Given the description of an element on the screen output the (x, y) to click on. 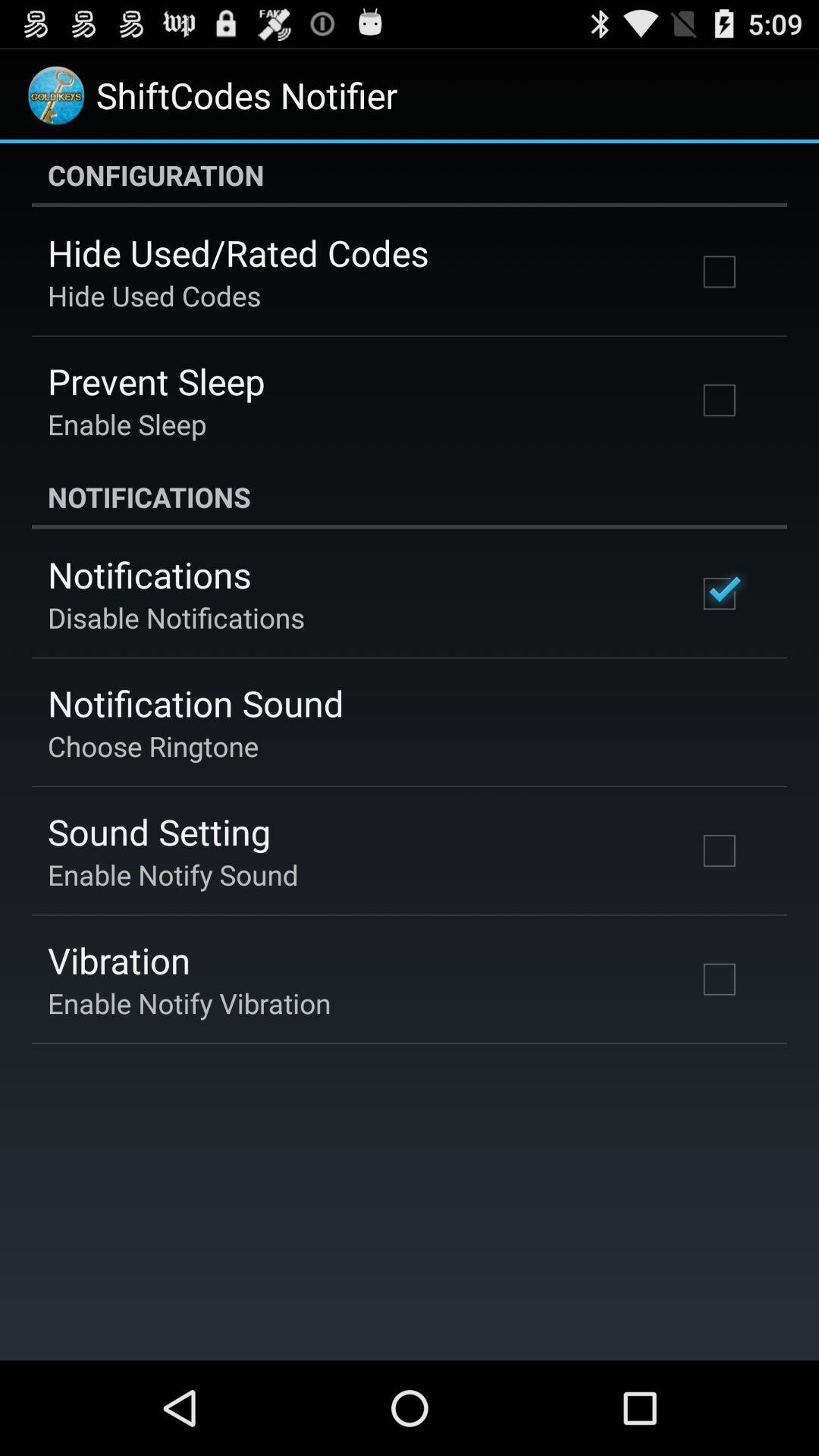
open the choose ringtone icon (152, 745)
